Given the description of an element on the screen output the (x, y) to click on. 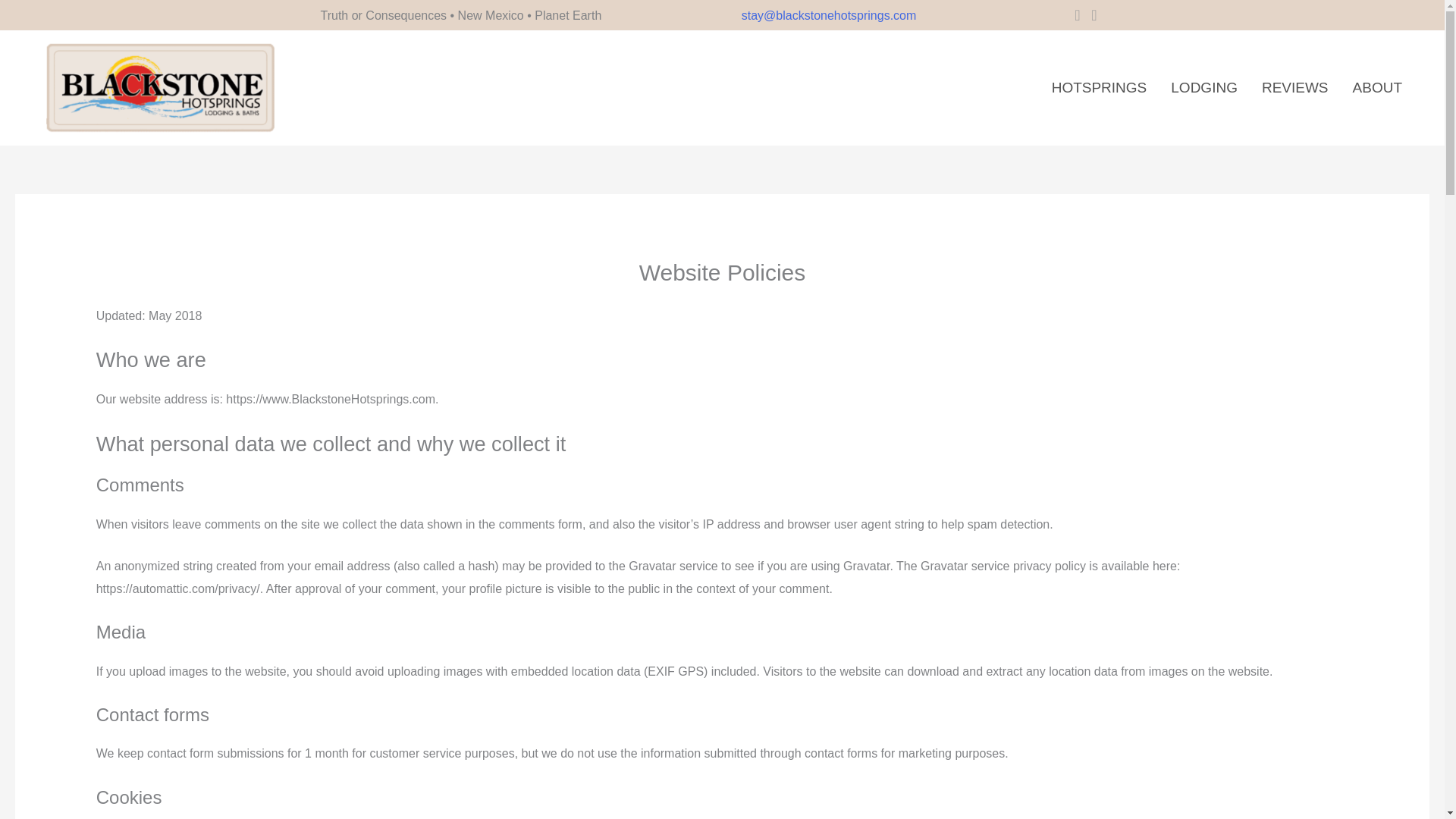
HOTSPRINGS (1098, 87)
REVIEWS (1294, 87)
ABOUT (1376, 87)
LODGING (1203, 87)
